Given the description of an element on the screen output the (x, y) to click on. 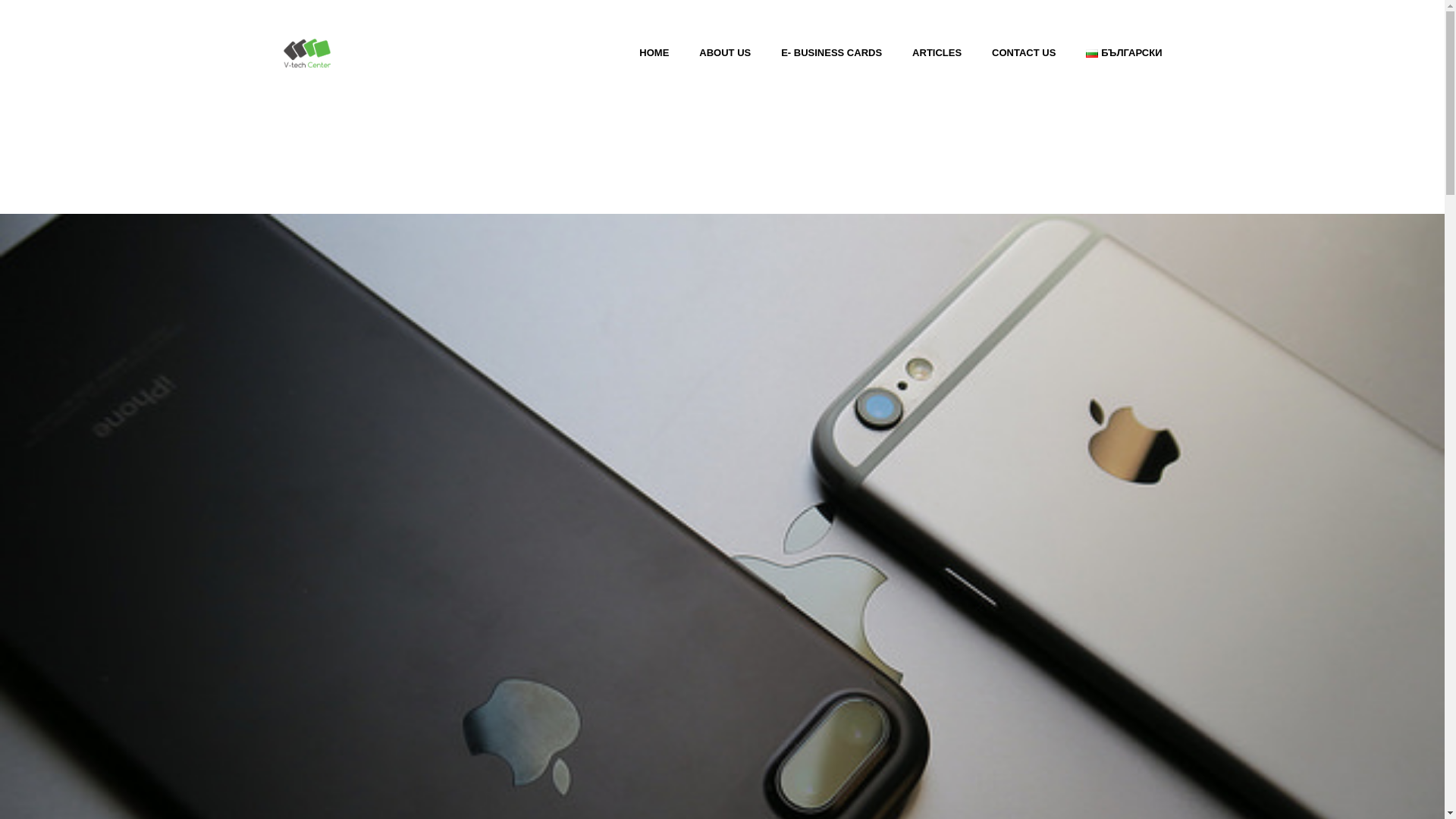
ARTICLES (936, 52)
E- BUSINESS CARDS (831, 52)
HOME (653, 52)
ABOUT US (724, 52)
CONTACT US (1023, 52)
